Given the description of an element on the screen output the (x, y) to click on. 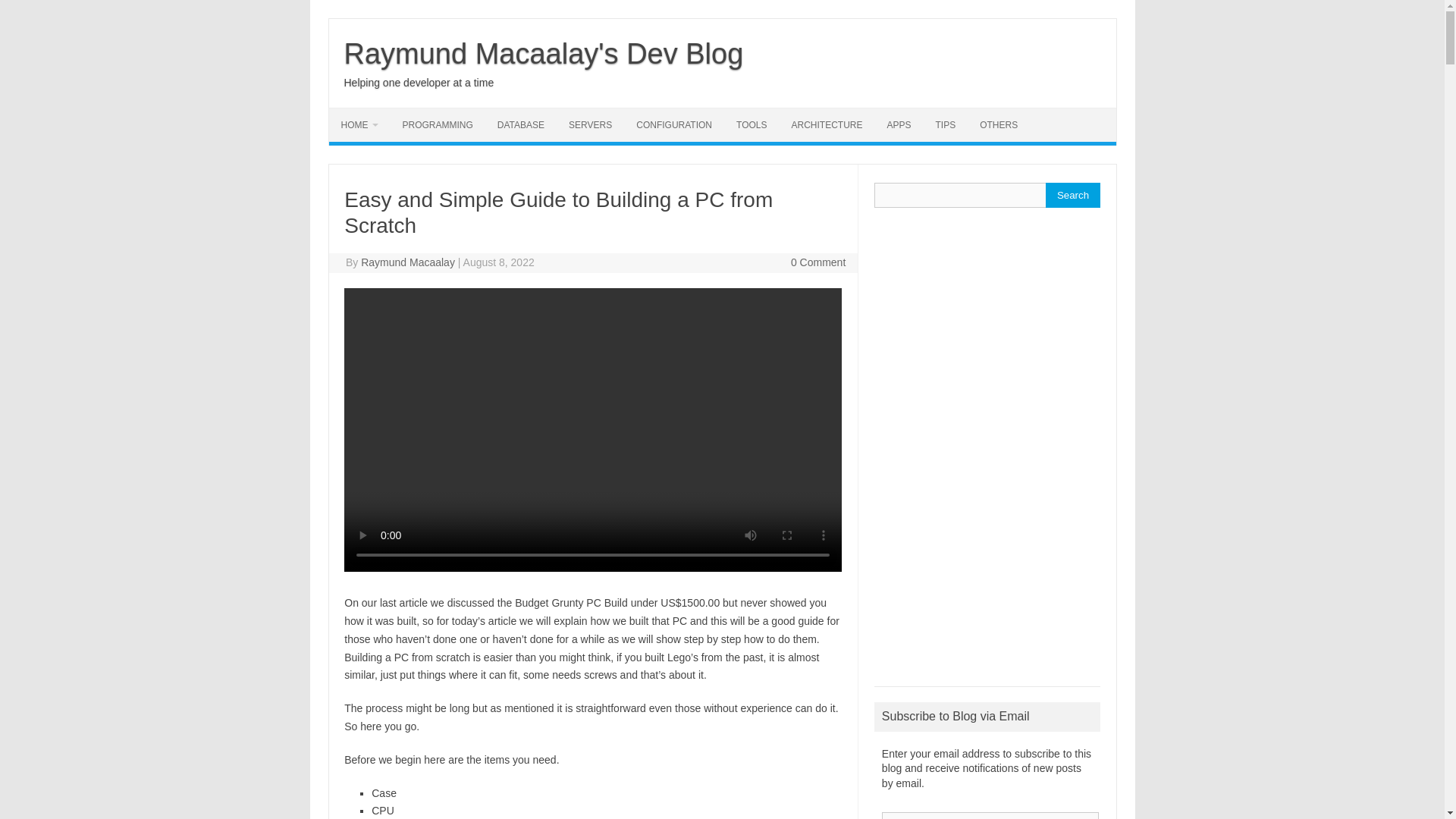
TOOLS (750, 124)
PROGRAMMING (437, 124)
Posts by Raymund Macaalay (407, 262)
HOME (359, 124)
Raymund Macaalay (407, 262)
ARCHITECTURE (826, 124)
CONFIGURATION (673, 124)
APPS (899, 124)
OTHERS (998, 124)
